Given the description of an element on the screen output the (x, y) to click on. 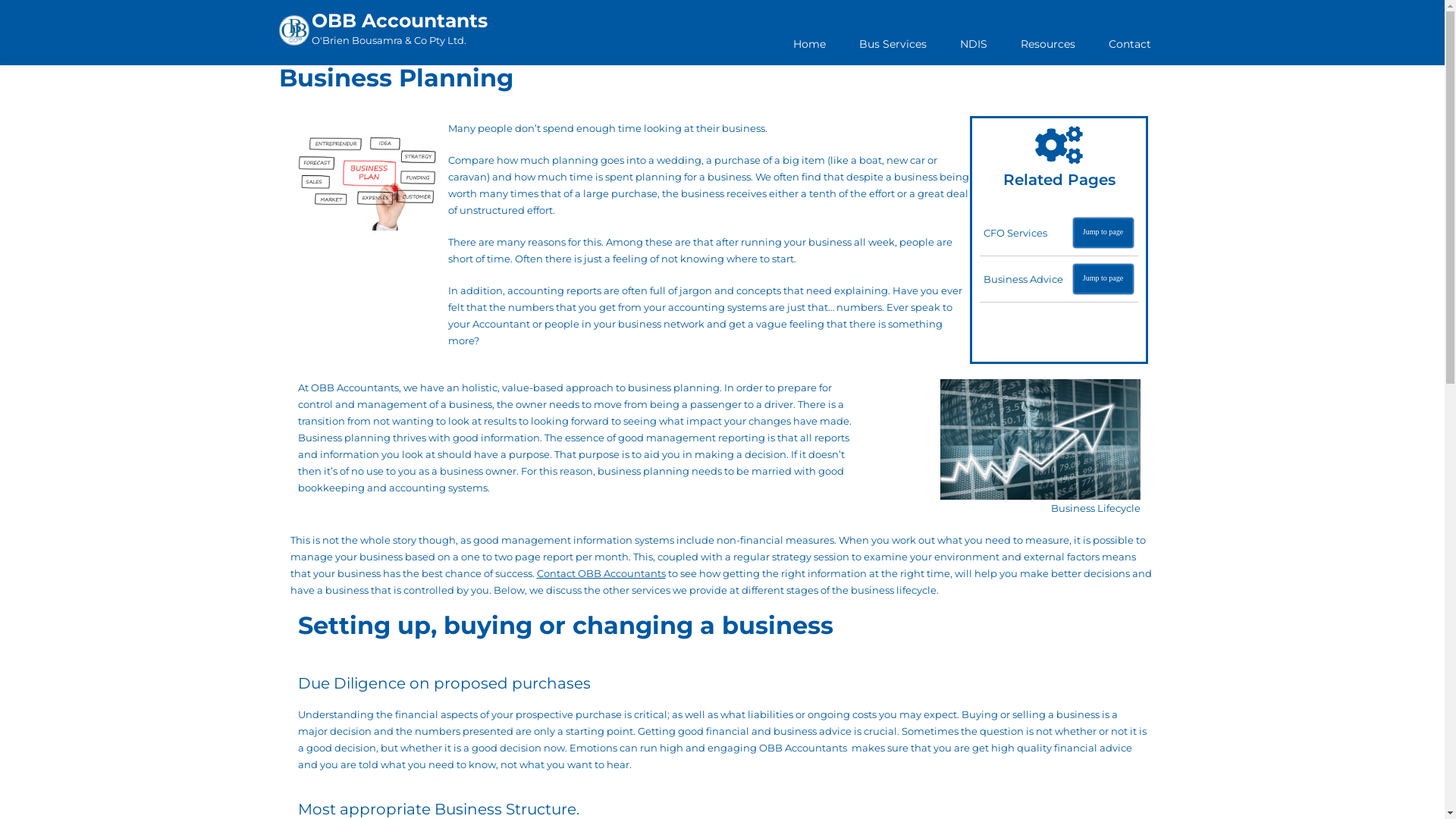
Bus Services Element type: text (892, 43)
Contact Element type: text (1129, 43)
Home Element type: text (809, 43)
OBB Accountants Element type: text (398, 20)
Contact OBB Accountants Element type: text (600, 573)
Resources Element type: text (1047, 43)
Jump to page Element type: text (1103, 278)
NDIS Element type: text (973, 43)
Jump to page Element type: text (1103, 232)
